Given the description of an element on the screen output the (x, y) to click on. 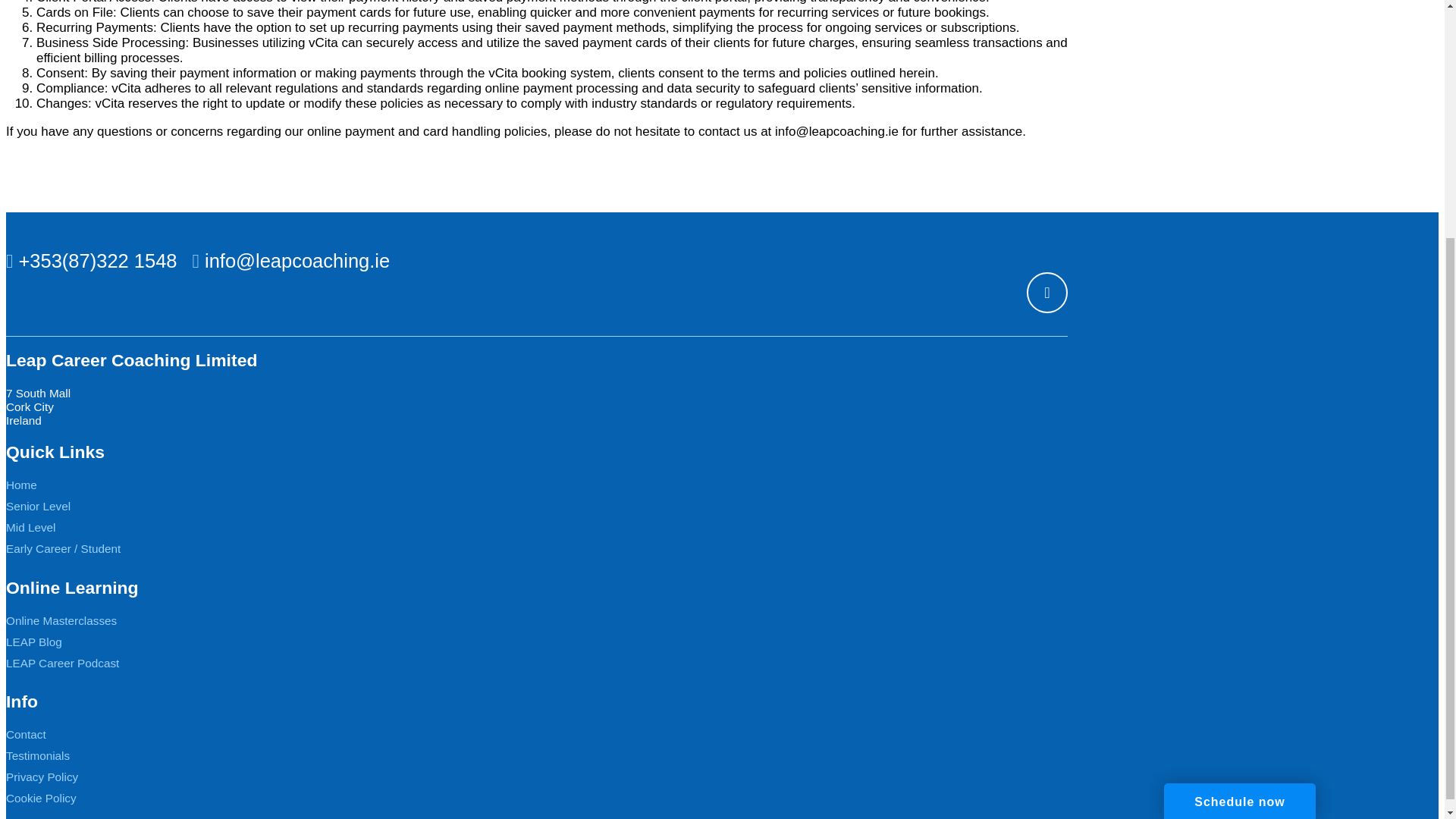
Testimonials (37, 755)
Senior Level (37, 505)
LEAP Career Podcast (62, 662)
LEAP Blog (33, 641)
Follow us on LinkedIn (1046, 291)
Home (21, 484)
Mid Level (30, 526)
Online Masterclasses (60, 620)
Contact (25, 734)
